Given the description of an element on the screen output the (x, y) to click on. 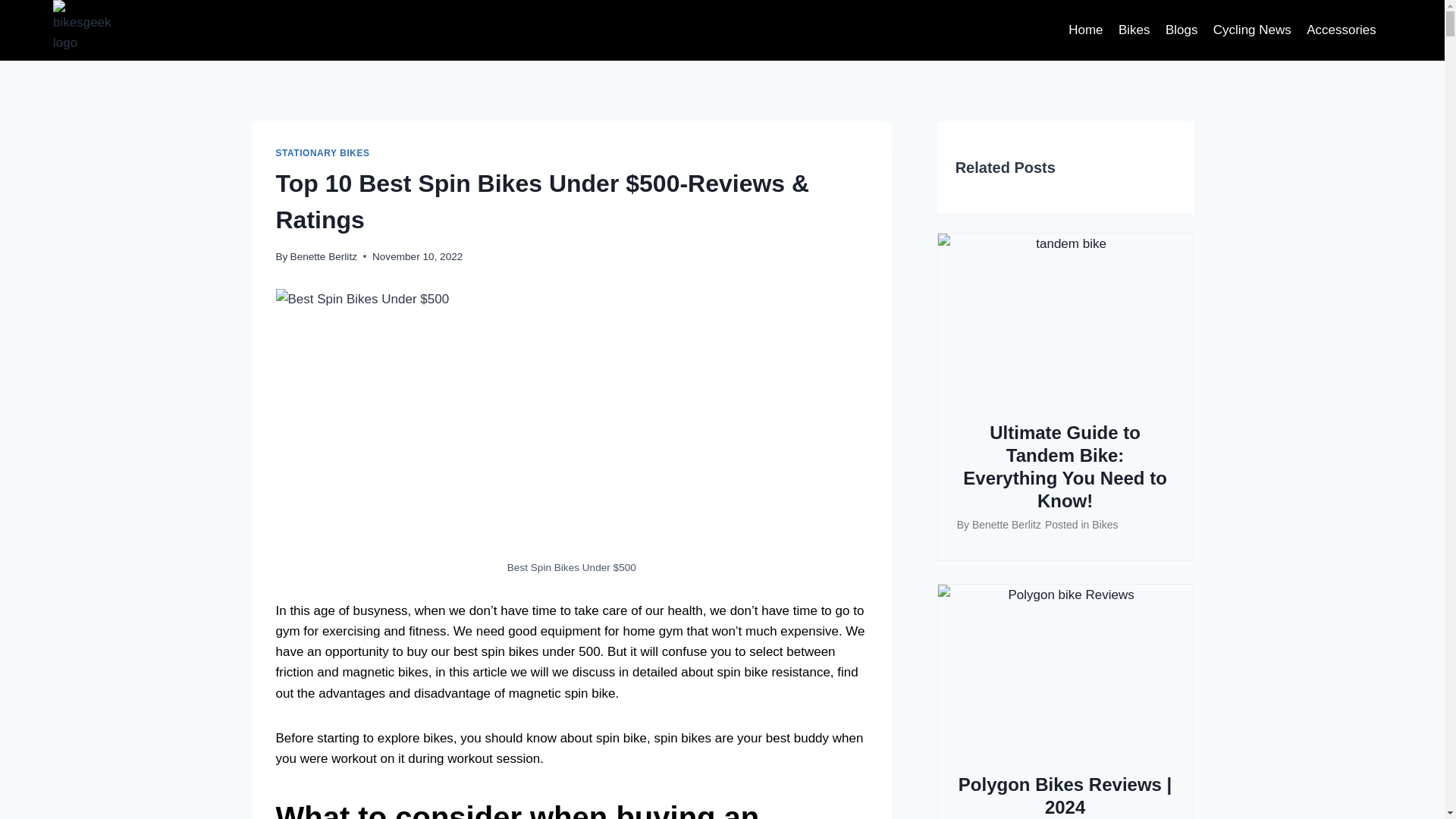
Accessories (1341, 30)
Bikes (1133, 30)
Benette Berlitz (322, 256)
STATIONARY BIKES (322, 153)
Blogs (1181, 30)
Cycling News (1251, 30)
Home (1085, 30)
